Given the description of an element on the screen output the (x, y) to click on. 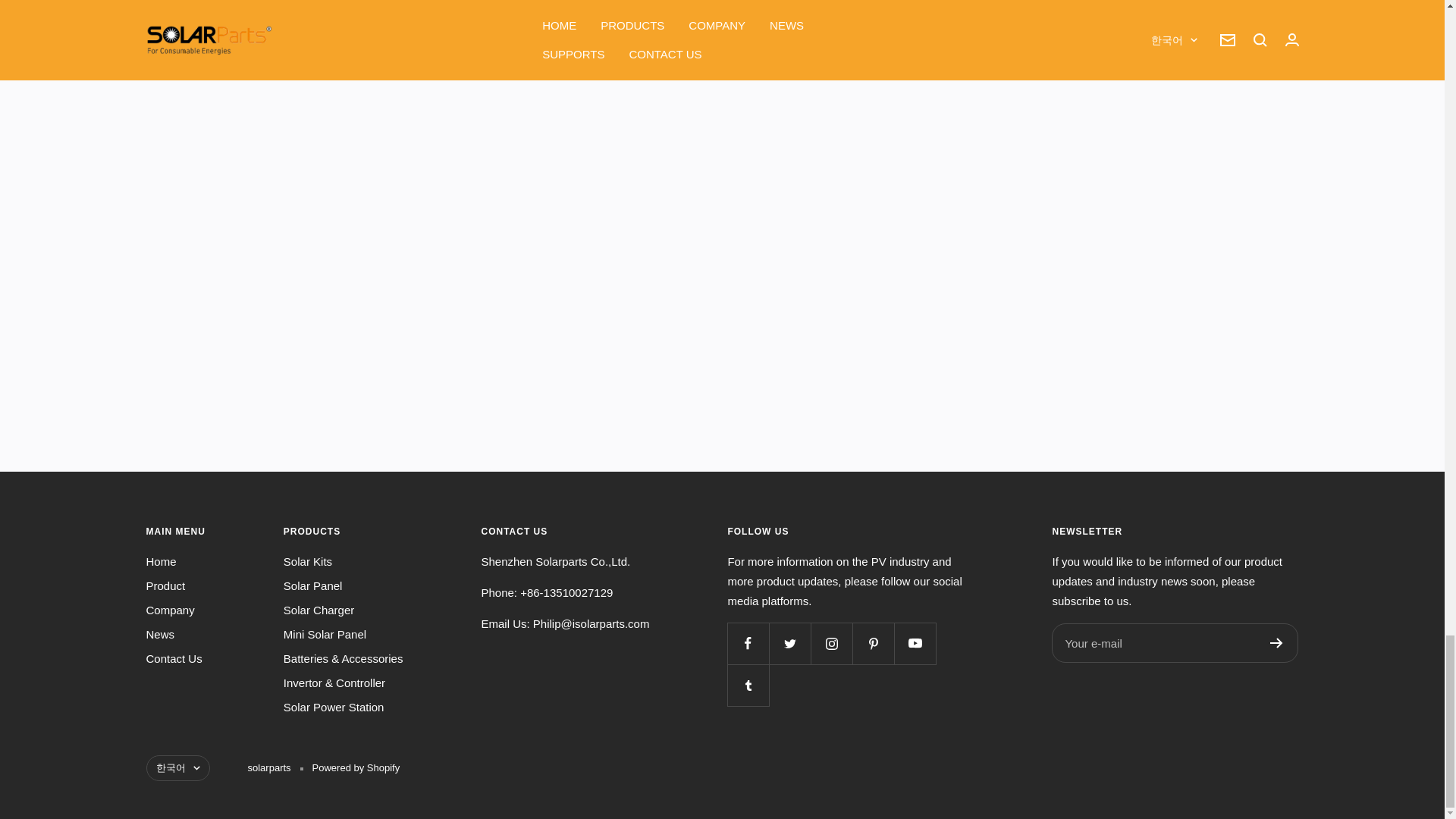
Register (1275, 643)
